Given the description of an element on the screen output the (x, y) to click on. 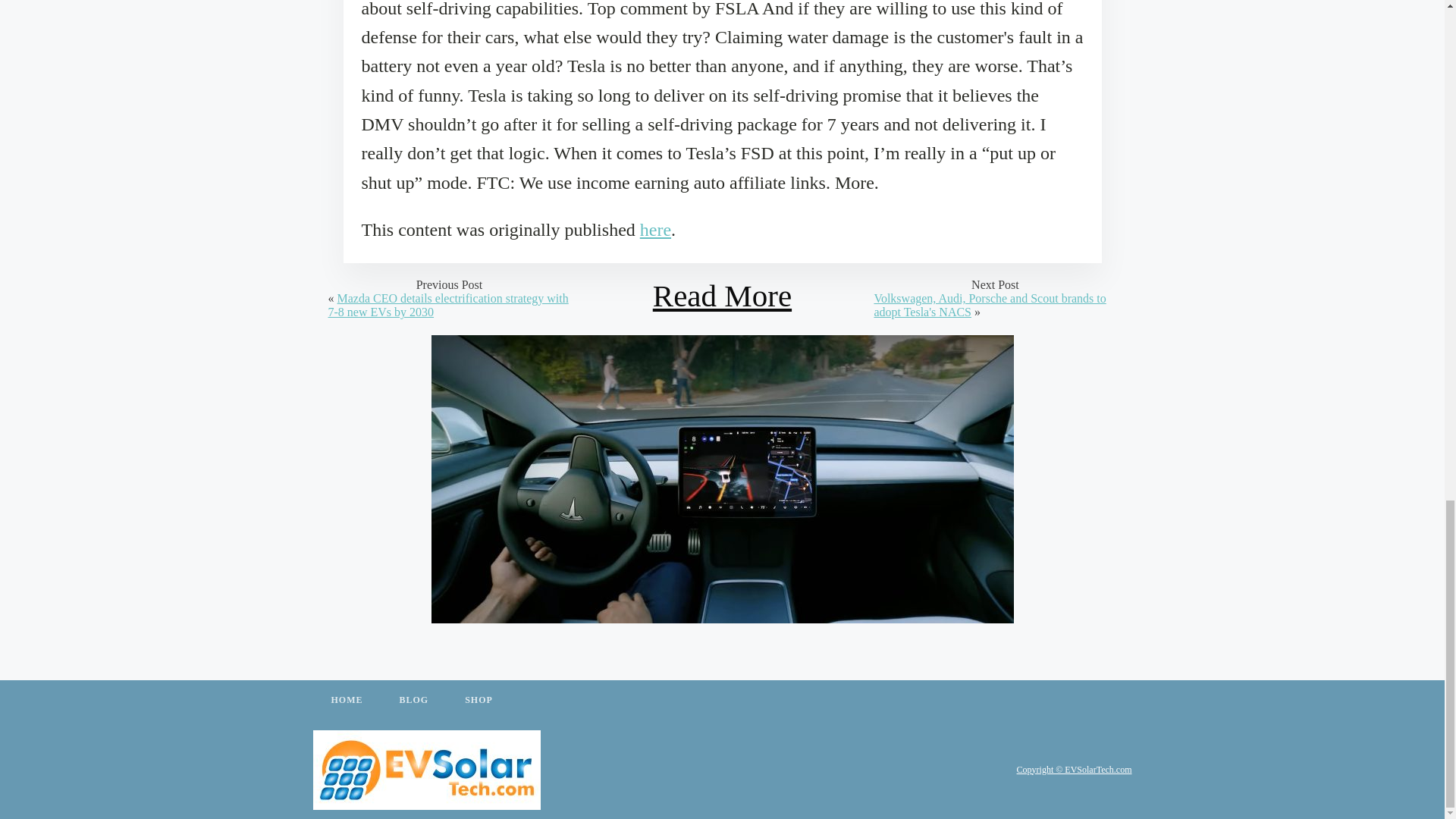
HOME (346, 700)
here (655, 229)
SHOP (478, 700)
Read More (722, 295)
BLOG (413, 700)
